Given the description of an element on the screen output the (x, y) to click on. 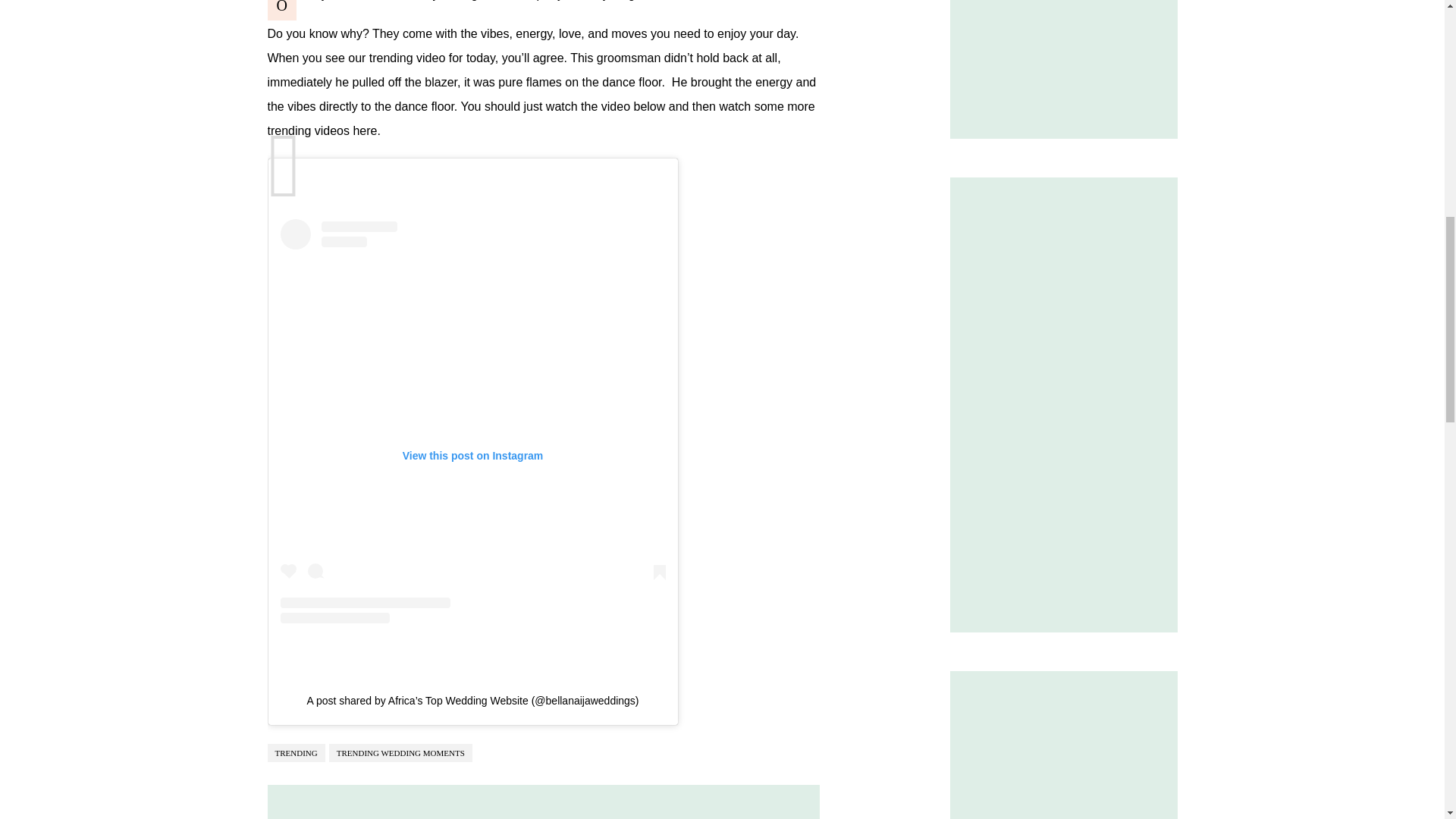
TRENDING (295, 752)
TRENDING WEDDING MOMENTS (400, 752)
here (364, 130)
